Given the description of an element on the screen output the (x, y) to click on. 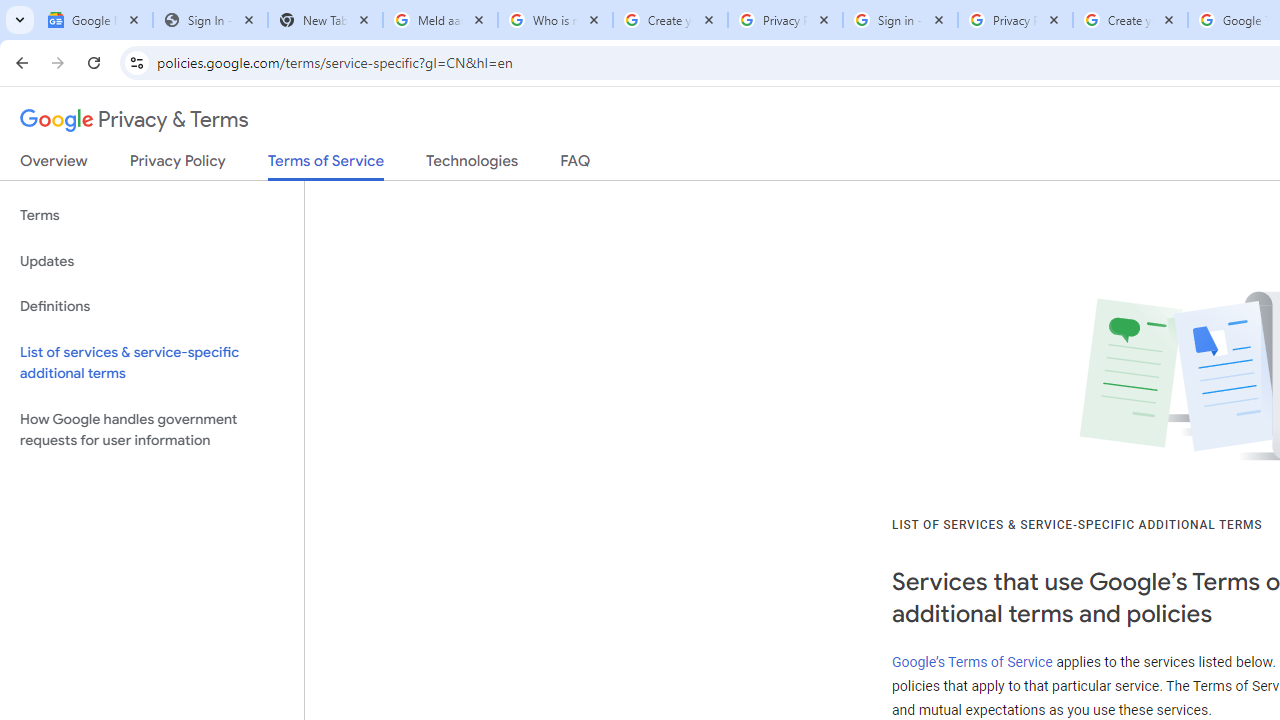
Create your Google Account (1129, 20)
Sign in - Google Accounts (900, 20)
Privacy & Terms (134, 120)
Create your Google Account (670, 20)
Privacy Policy (177, 165)
Terms (152, 215)
